Given the description of an element on the screen output the (x, y) to click on. 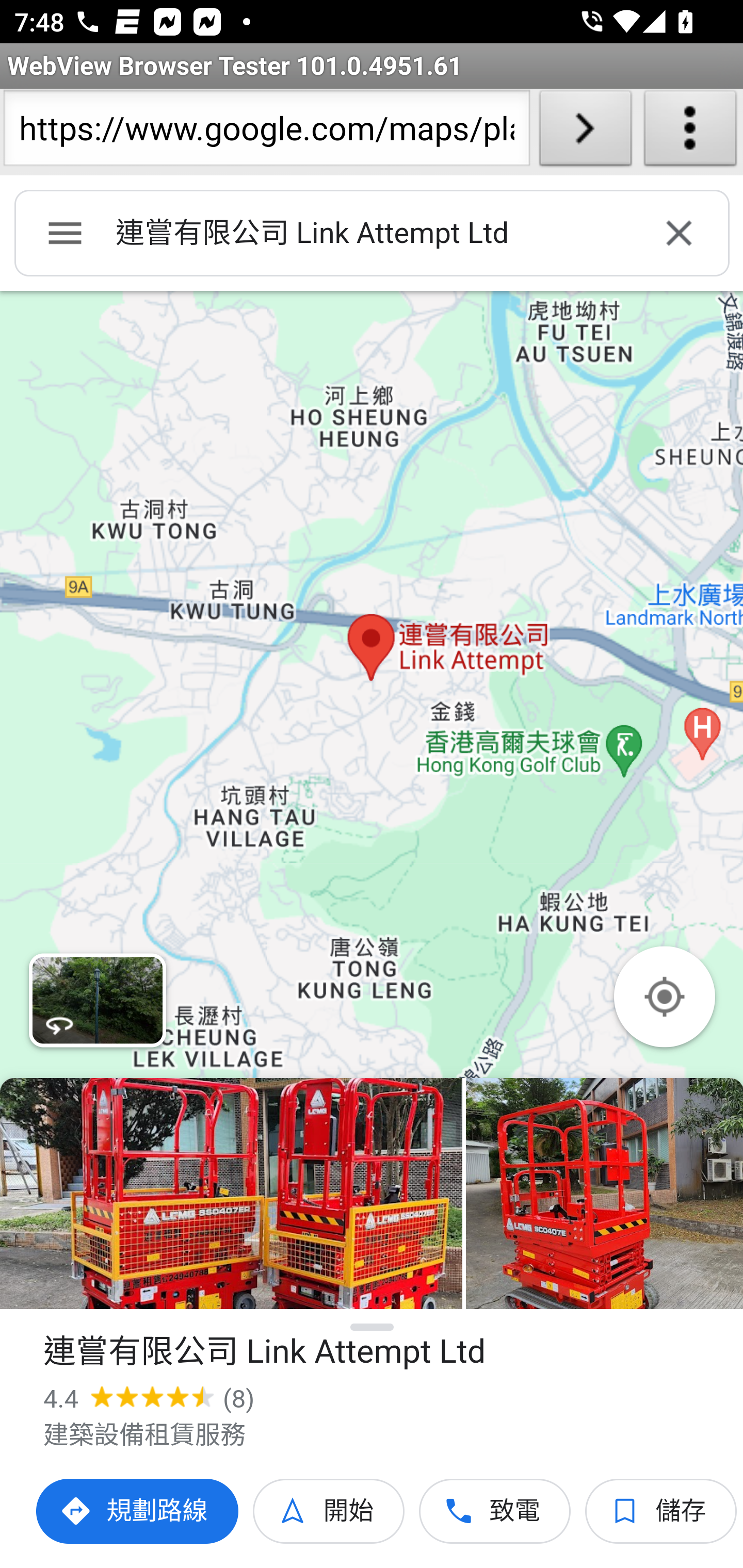
Load URL (585, 132)
About WebView (690, 132)
第 1 張相片 (共 9 張) (231, 1193)
第 2 張相片 (共 9 張) (604, 1193)
顯示詳細資料 (372, 1327)
前往連嘗有限公司 Link Attempt Ltd的路線 (137, 1511)
開始 (329, 1511)
致電「連嘗有限公司 Link Attempt Ltd」  致電 (495, 1511)
將「連嘗有限公司 Link Attempt Ltd」儲存至清單中 (661, 1511)
